Given the description of an element on the screen output the (x, y) to click on. 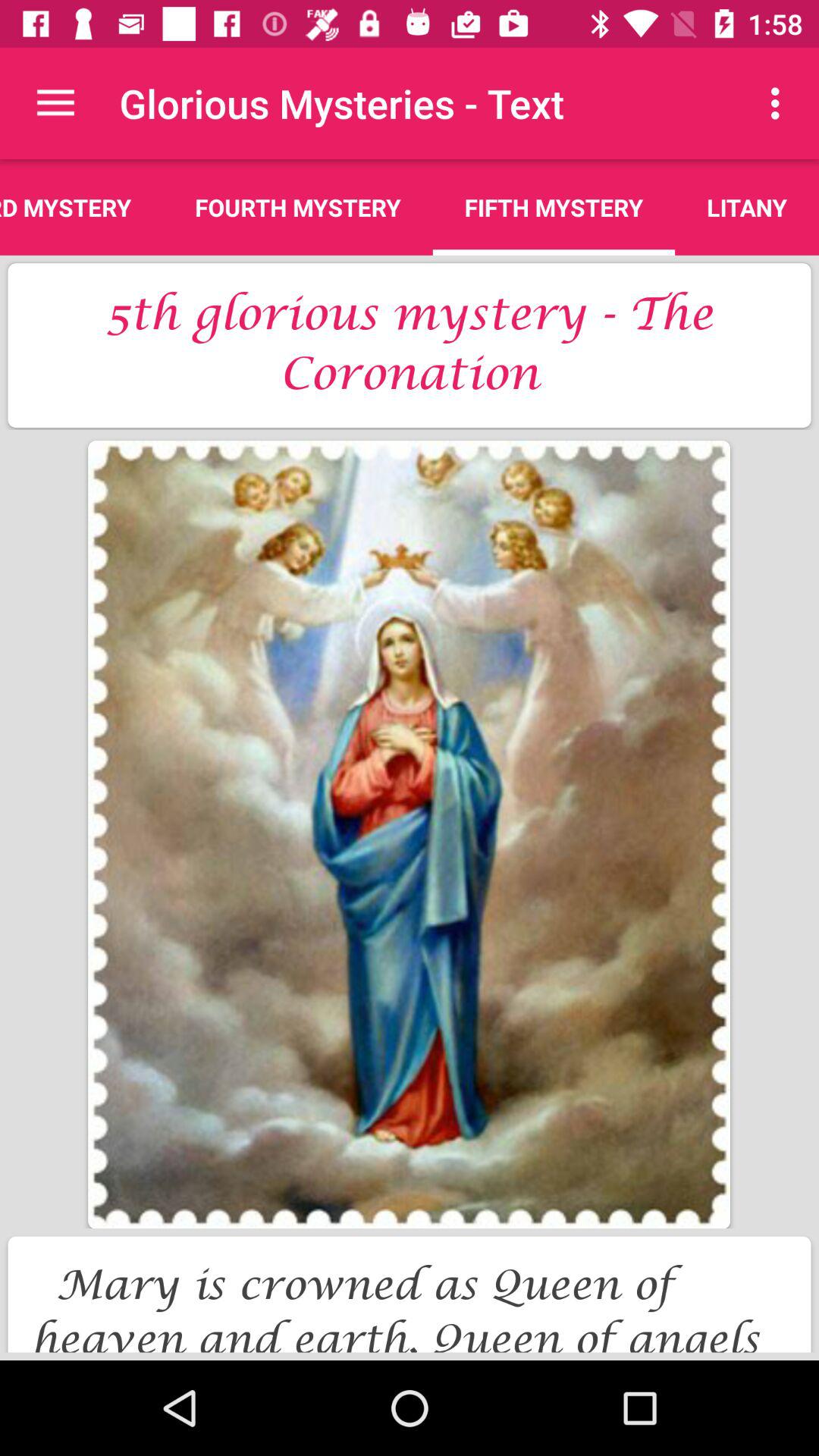
turn on the icon above the 5th glorious mystery (553, 207)
